Given the description of an element on the screen output the (x, y) to click on. 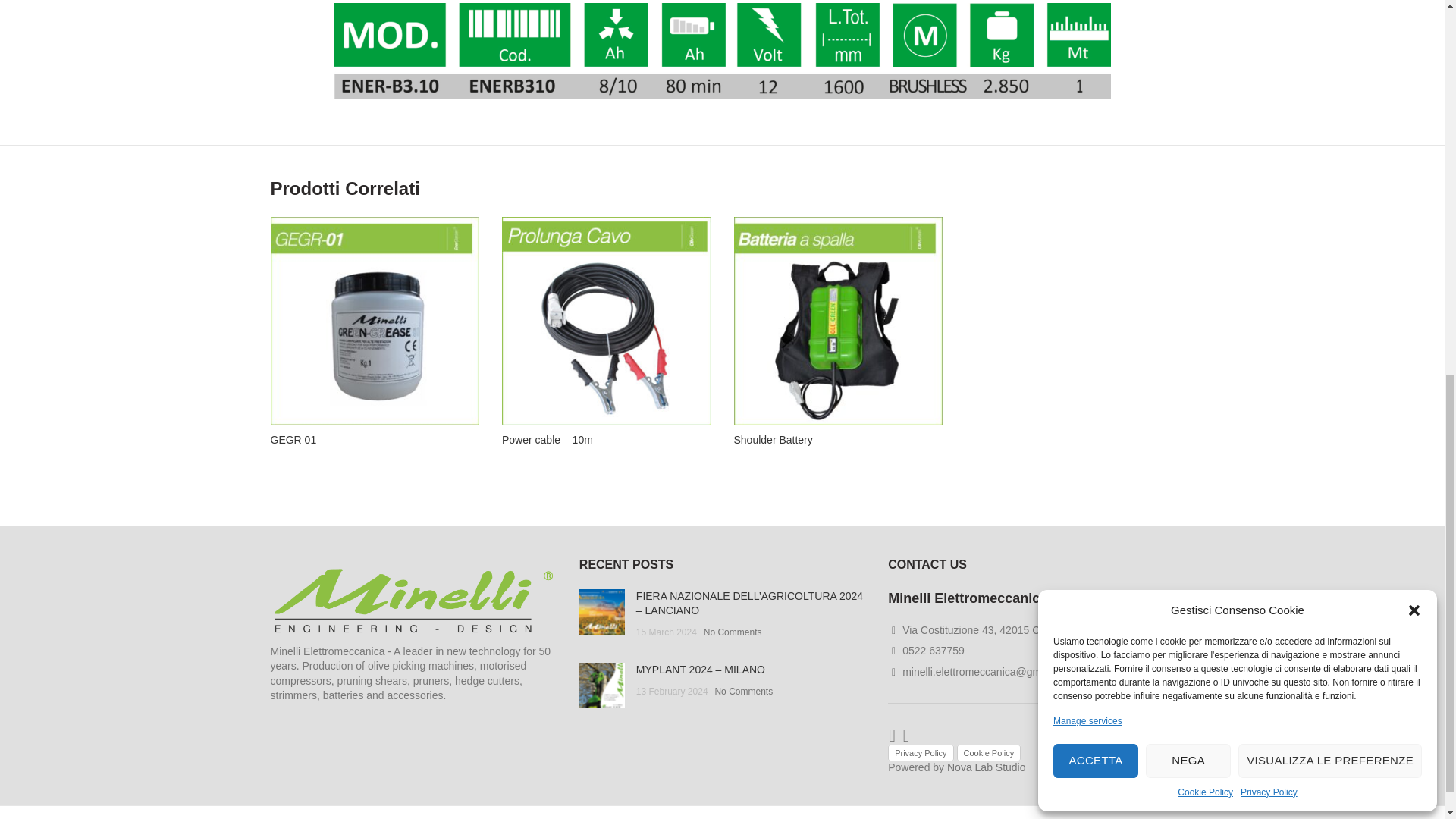
ACCETTA (1095, 43)
Mypalnt 2024 (601, 685)
NEGA (1187, 43)
Manage services (1087, 5)
Cookie Policy (1205, 74)
Privacy Policy (1268, 74)
VISUALIZZA LE PREFERENZE (1330, 43)
